Given the description of an element on the screen output the (x, y) to click on. 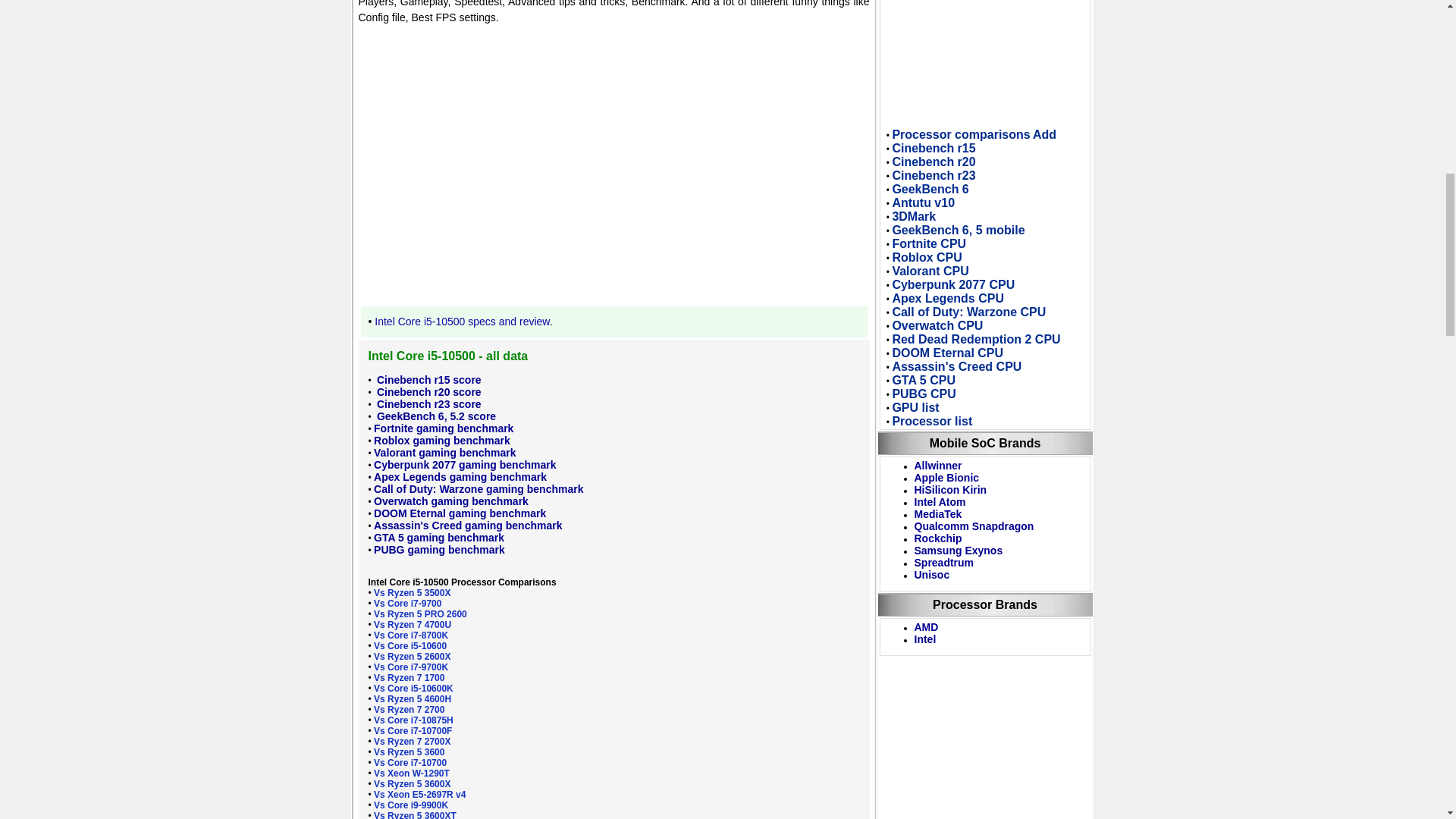
DOOM Eternal gaming benchmark (460, 512)
Vs Core i7-9700K (411, 666)
Vs Ryzen 5 4600H (412, 698)
Vs Core i7-10875H (413, 719)
Vs Ryzen 7 2700 (409, 709)
PUBG gaming benchmark (439, 549)
Vs Core i7-8700K (411, 634)
Intel Core i5-10500 Cinebench r23 score points (427, 404)
Cinebench r23 score (427, 404)
Vs Core i9-9900K (411, 805)
